Given the description of an element on the screen output the (x, y) to click on. 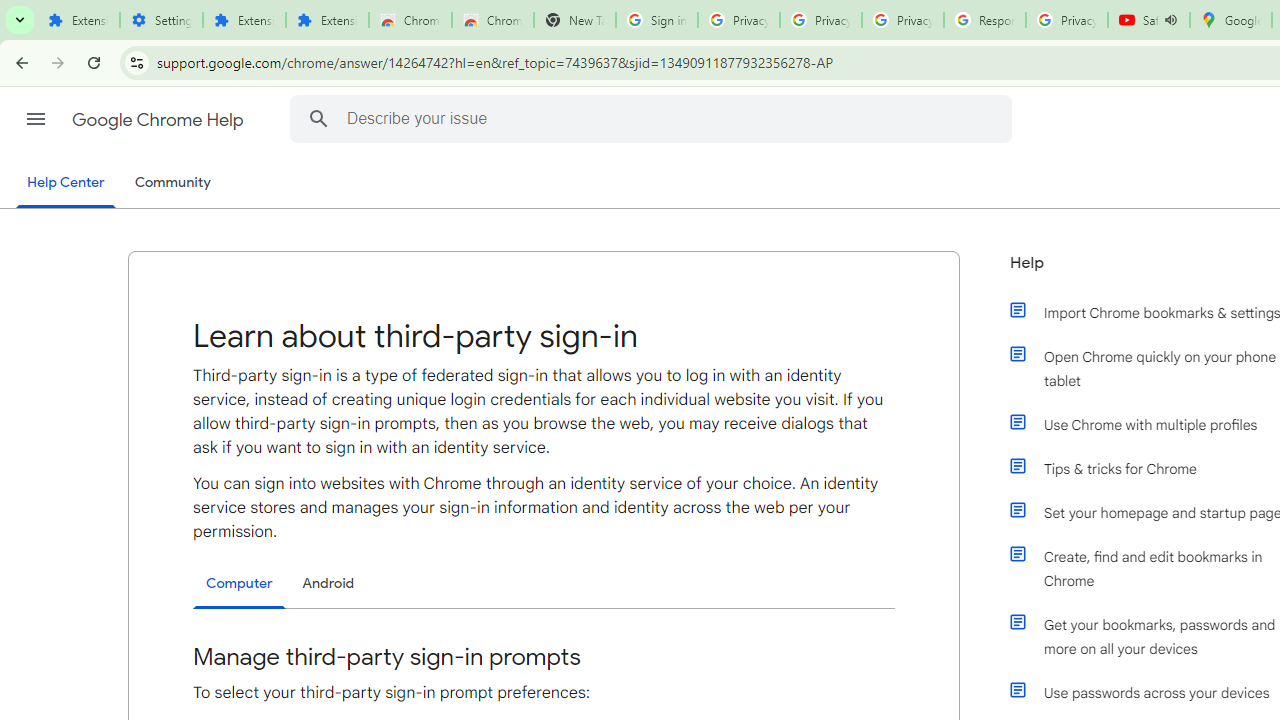
Main menu (35, 119)
Settings (161, 20)
Describe your issue (653, 118)
Search Help Center (318, 118)
Android (328, 583)
Extensions (78, 20)
